Given the description of an element on the screen output the (x, y) to click on. 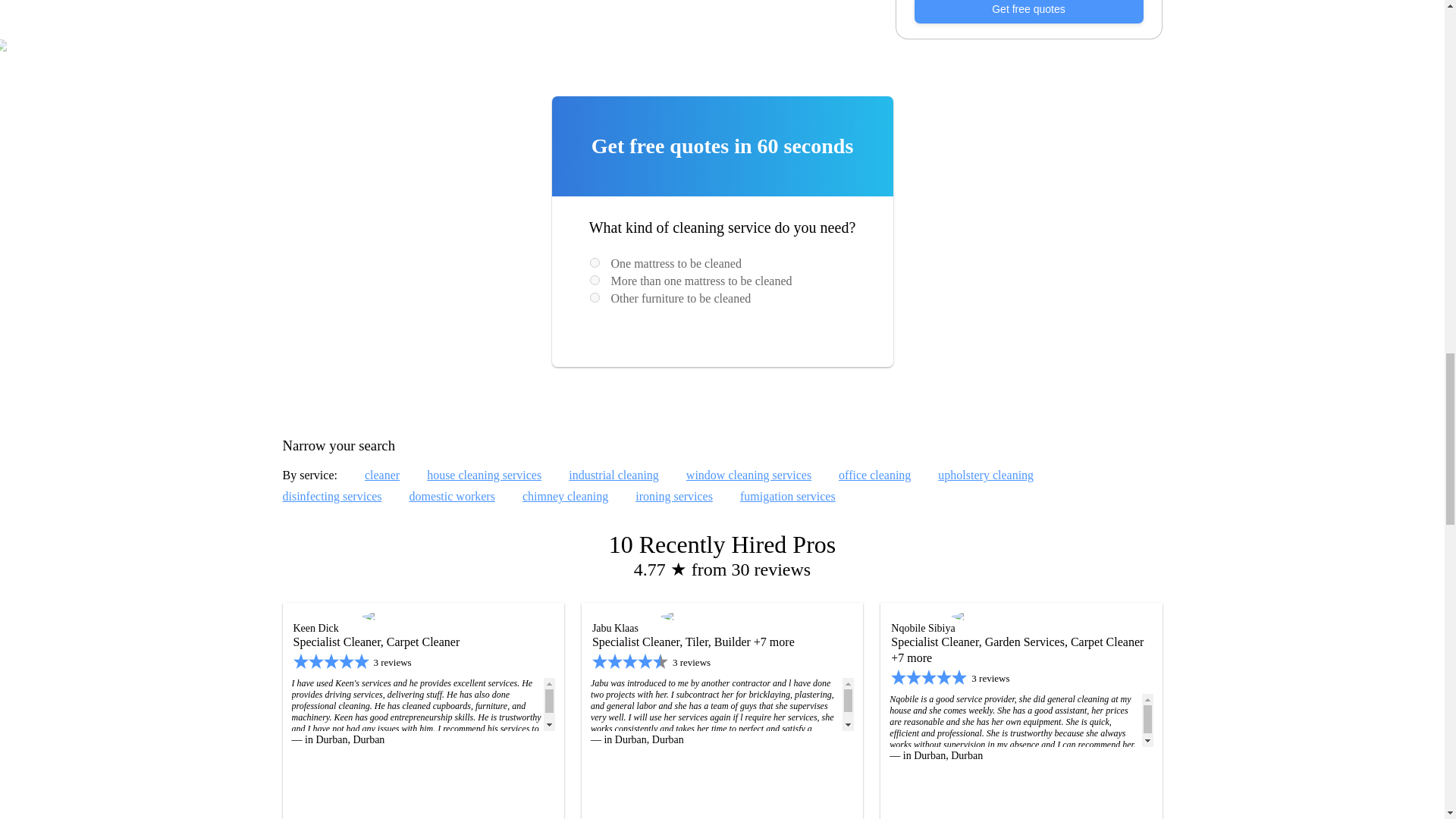
Get free quotes (1028, 11)
chimney cleaning (565, 495)
industrial cleaning (614, 474)
office cleaning (874, 474)
cleaner (381, 474)
house cleaning services (483, 474)
domestic workers (452, 495)
Other furniture to be cleaned (594, 297)
disinfecting services (331, 495)
fumigation services (787, 495)
window cleaning services (747, 474)
More than one mattress to be cleaned (594, 280)
One mattress to be cleaned (594, 262)
ironing services (673, 495)
upholstery cleaning (985, 474)
